Given the description of an element on the screen output the (x, y) to click on. 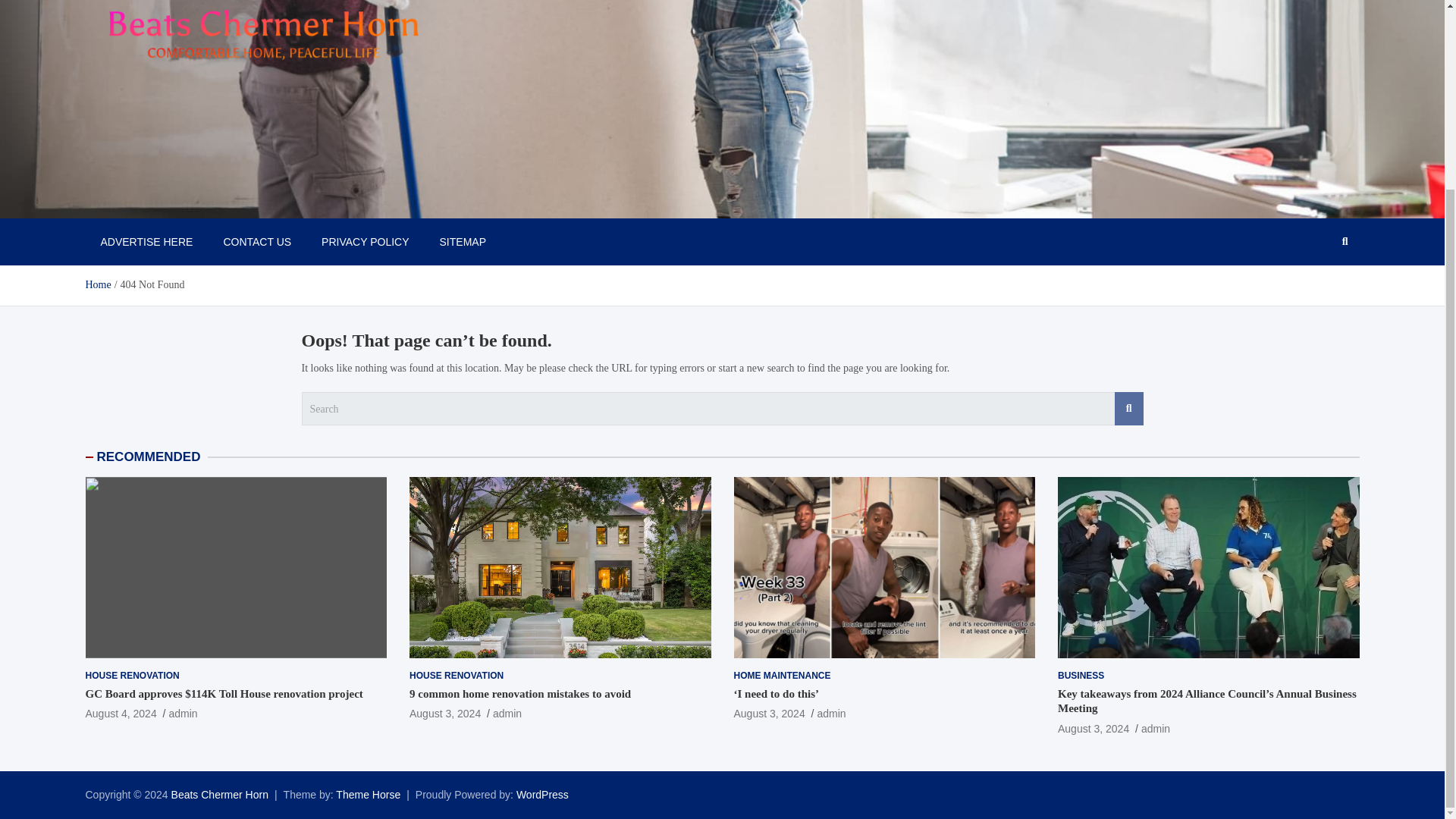
RECOMMENDED (148, 456)
Beats Chermer Horn (193, 201)
Theme Horse (368, 794)
9 common home renovation mistakes to avoid (519, 693)
August 4, 2024 (119, 713)
ADVERTISE HERE (146, 241)
HOME MAINTENANCE (782, 676)
admin (182, 713)
9 common home renovation mistakes to avoid (444, 713)
WordPress (542, 794)
WordPress (542, 794)
Beats Chermer Horn (219, 794)
Theme Horse (368, 794)
BUSINESS (1080, 676)
PRIVACY POLICY (364, 241)
